Given the description of an element on the screen output the (x, y) to click on. 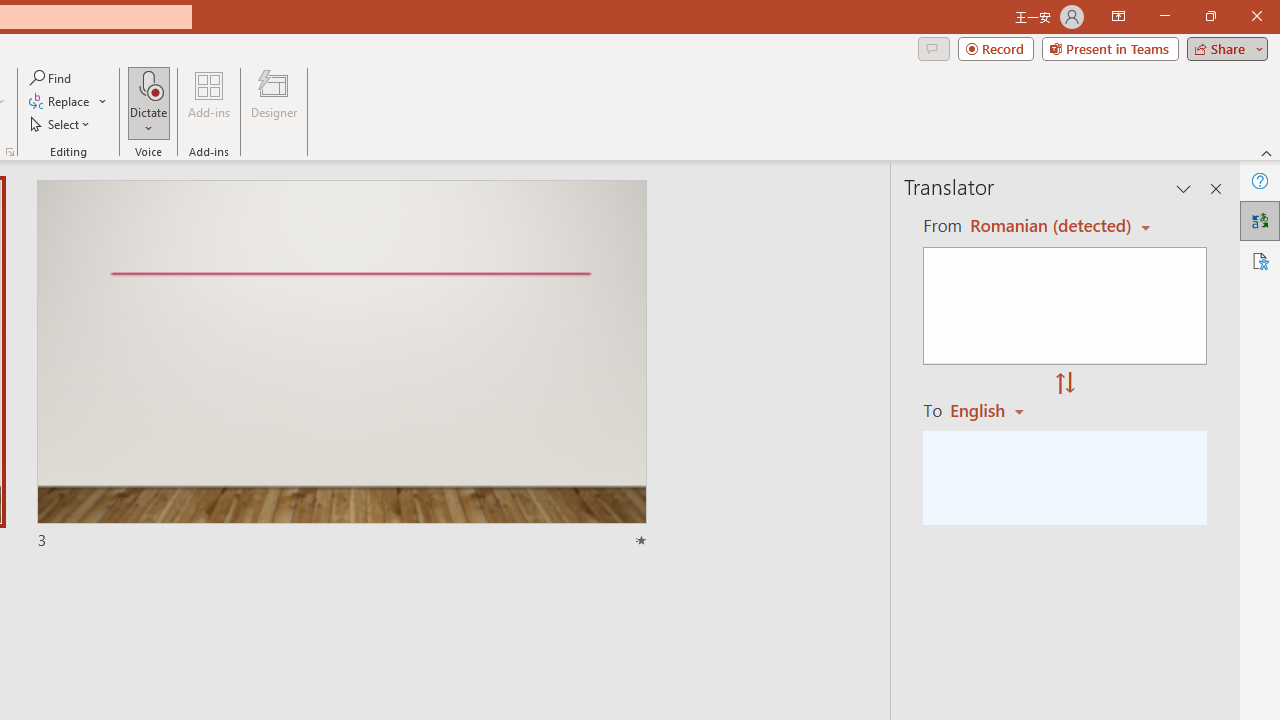
Romanian (994, 409)
